Given the description of an element on the screen output the (x, y) to click on. 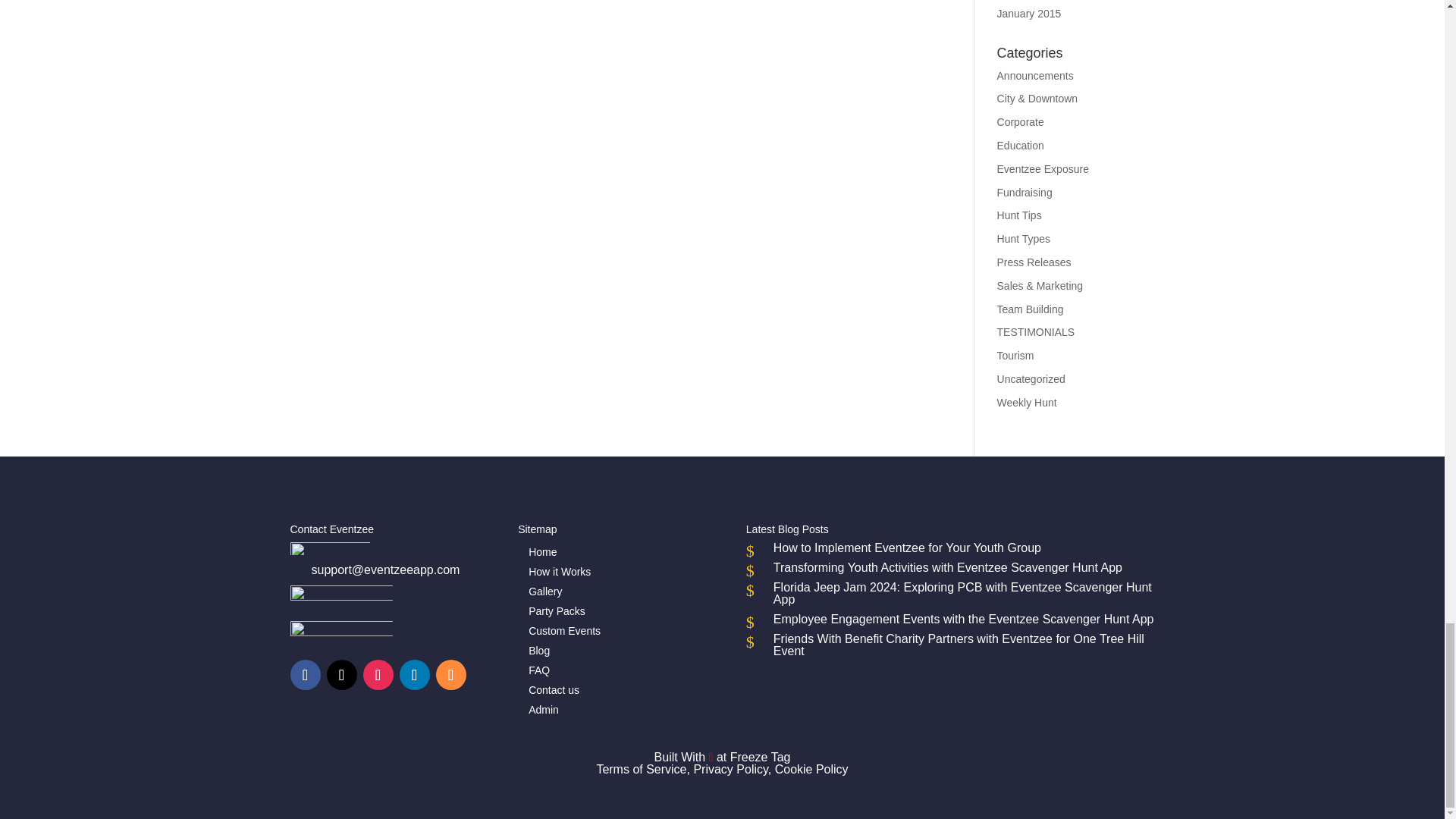
Follow on X (341, 675)
Follow on LinkedIn (413, 675)
badge-googleplay (340, 600)
Follow on Instagram (377, 675)
Follow on Facebook (304, 675)
appstorebadge (340, 635)
Follow on RSS (450, 675)
Cookie Policy (811, 768)
